Given the description of an element on the screen output the (x, y) to click on. 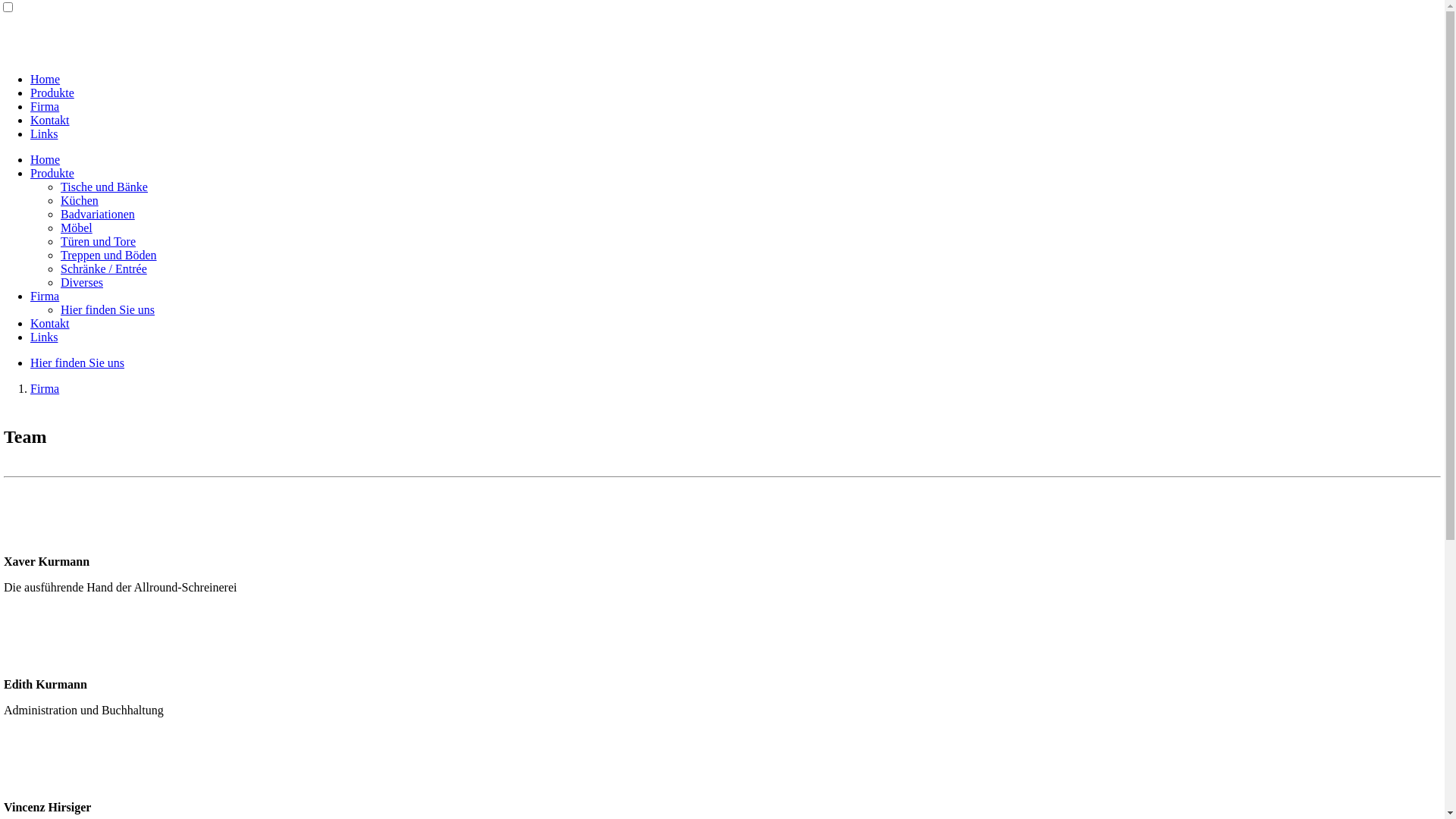
Links Element type: text (43, 133)
Badvariationen Element type: text (97, 213)
Firma Element type: text (44, 106)
Home Element type: text (44, 78)
Home Element type: text (44, 159)
Links Element type: text (43, 336)
Firma Element type: text (44, 388)
Hier finden Sie uns Element type: text (107, 309)
Produkte Element type: text (52, 92)
Kontakt Element type: text (49, 322)
Hier finden Sie uns Element type: text (77, 362)
Firma Element type: text (44, 295)
Diverses Element type: text (81, 282)
Produkte Element type: text (52, 172)
Kontakt Element type: text (49, 119)
